Given the description of an element on the screen output the (x, y) to click on. 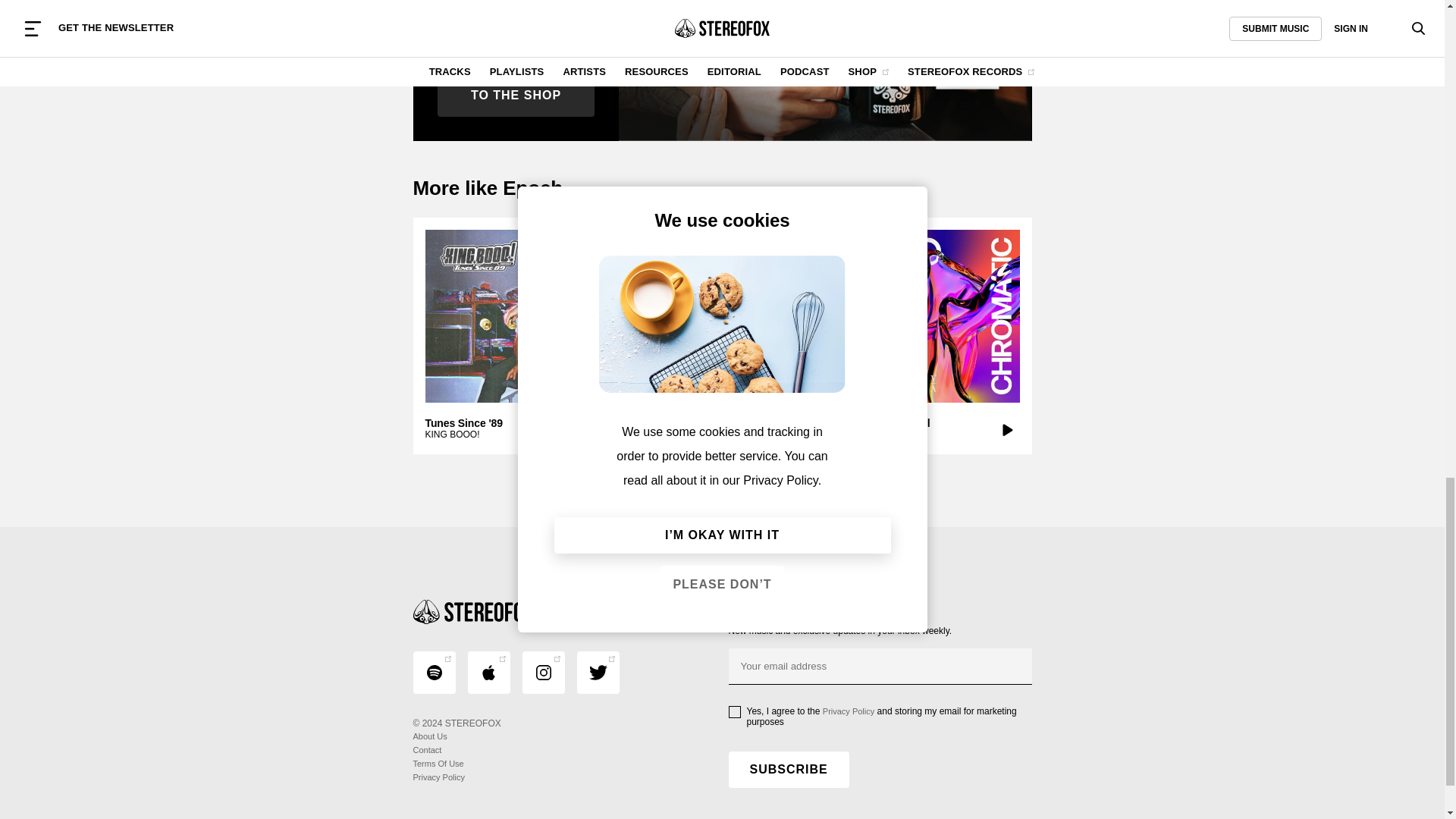
Subscribe (788, 769)
Tunes Since '89 (510, 316)
Expander (721, 316)
How Does It Feel (932, 316)
